Given the description of an element on the screen output the (x, y) to click on. 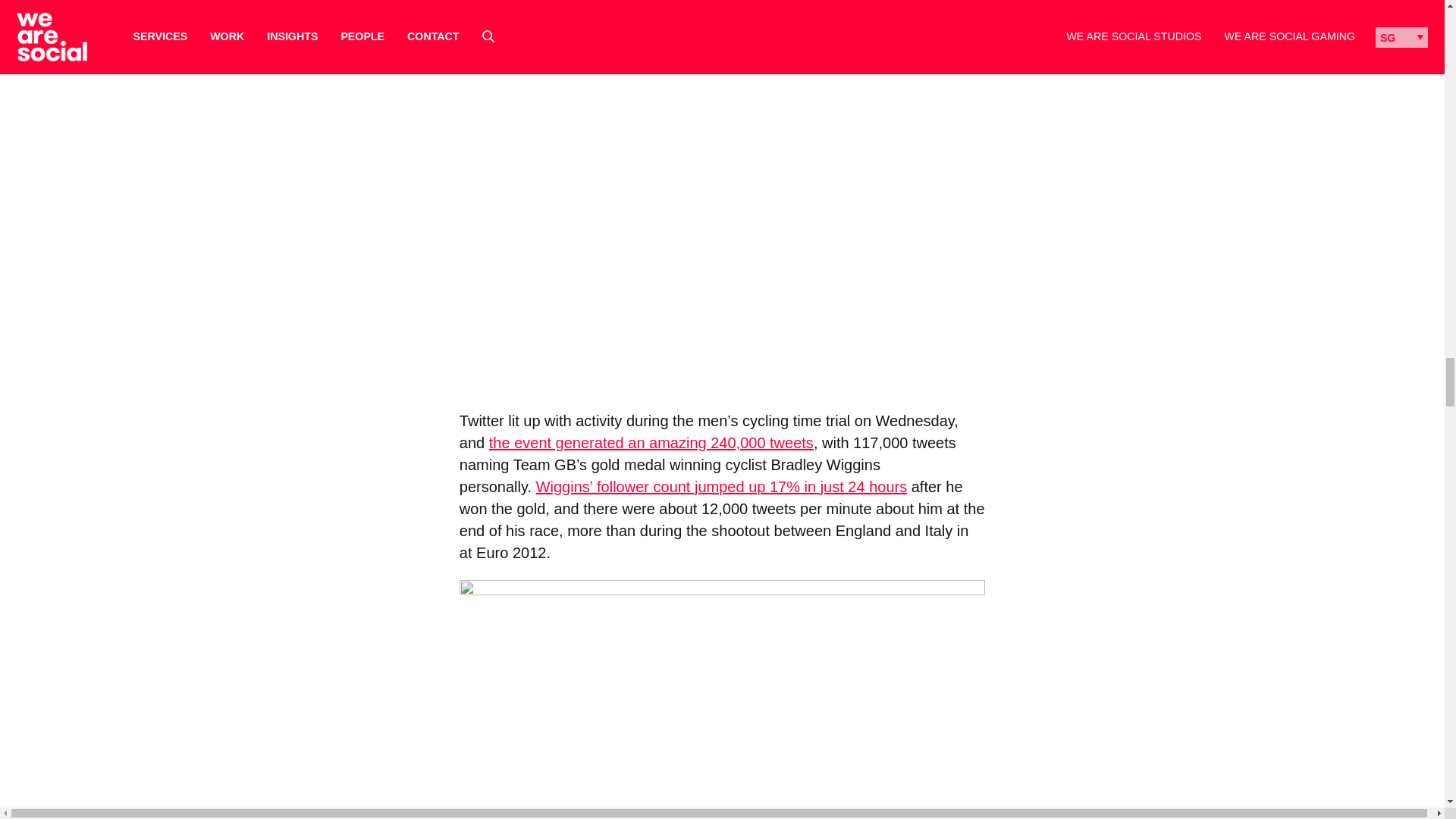
the event generated an amazing 240,000 tweets (651, 442)
Wiggins Twitter (722, 699)
